Given the description of an element on the screen output the (x, y) to click on. 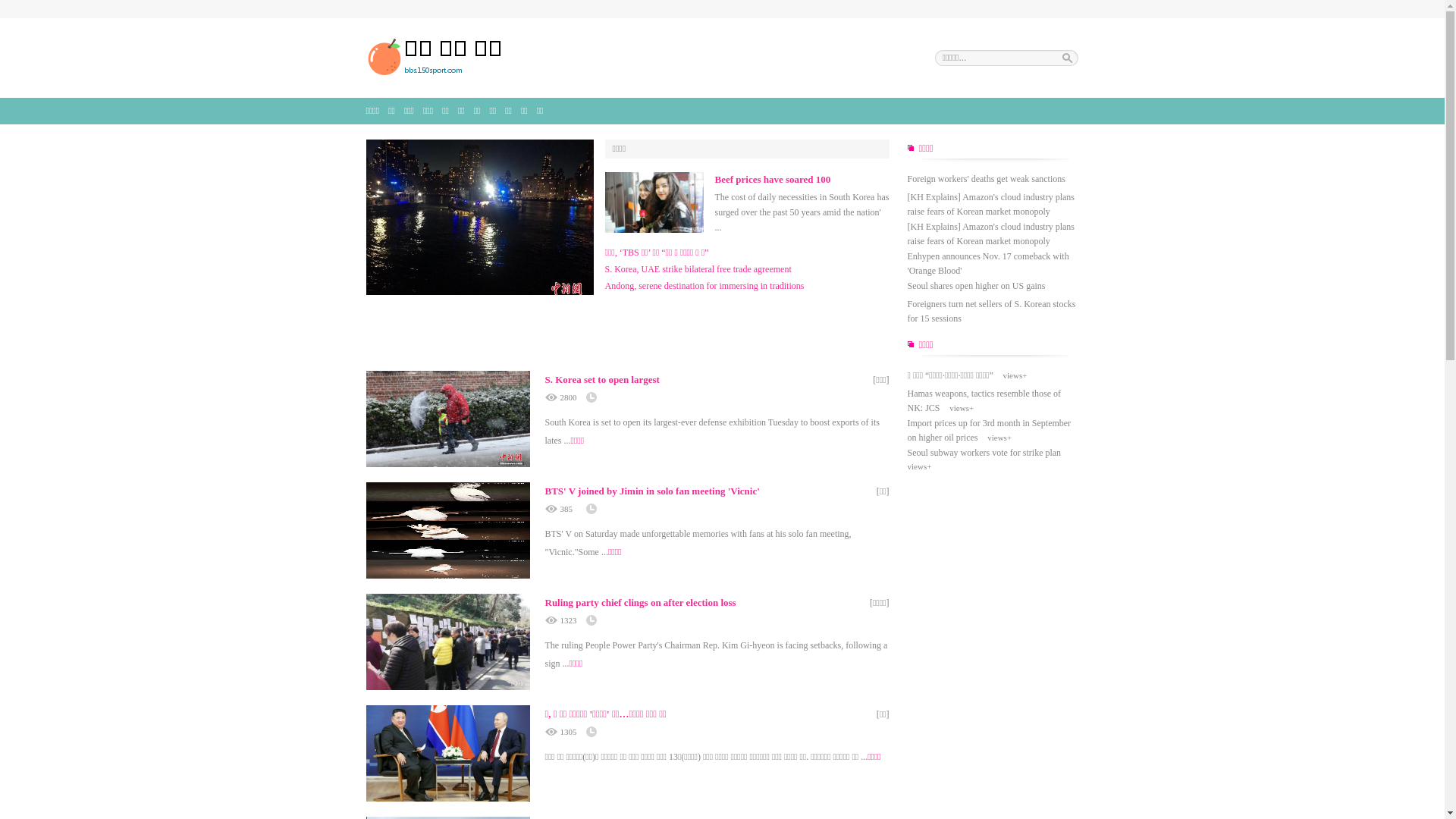
Hamas weapons, tactics resemble those of NK: JCS Element type: text (983, 400)
Beef prices have soared 100 Element type: text (772, 179)
Andong, serene destination for immersing in traditions Element type: text (704, 285)
Enhypen announces Nov. 17 comeback with 'Orange Blood' Element type: text (987, 263)
Seoul subway workers vote for strike plan Element type: text (983, 452)
BTS' V joined by Jimin in solo fan meeting 'Vicnic' Element type: text (651, 490)
S. Korea set to open largest Element type: text (601, 379)
Seoul shares open higher on US gains Element type: text (975, 285)
S. Korea, UAE strike bilateral free trade agreement Element type: text (698, 268)
Foreign workers' deaths get weak sanctions Element type: text (985, 178)
Ruling party chief clings on after election loss Element type: text (639, 602)
